Given the description of an element on the screen output the (x, y) to click on. 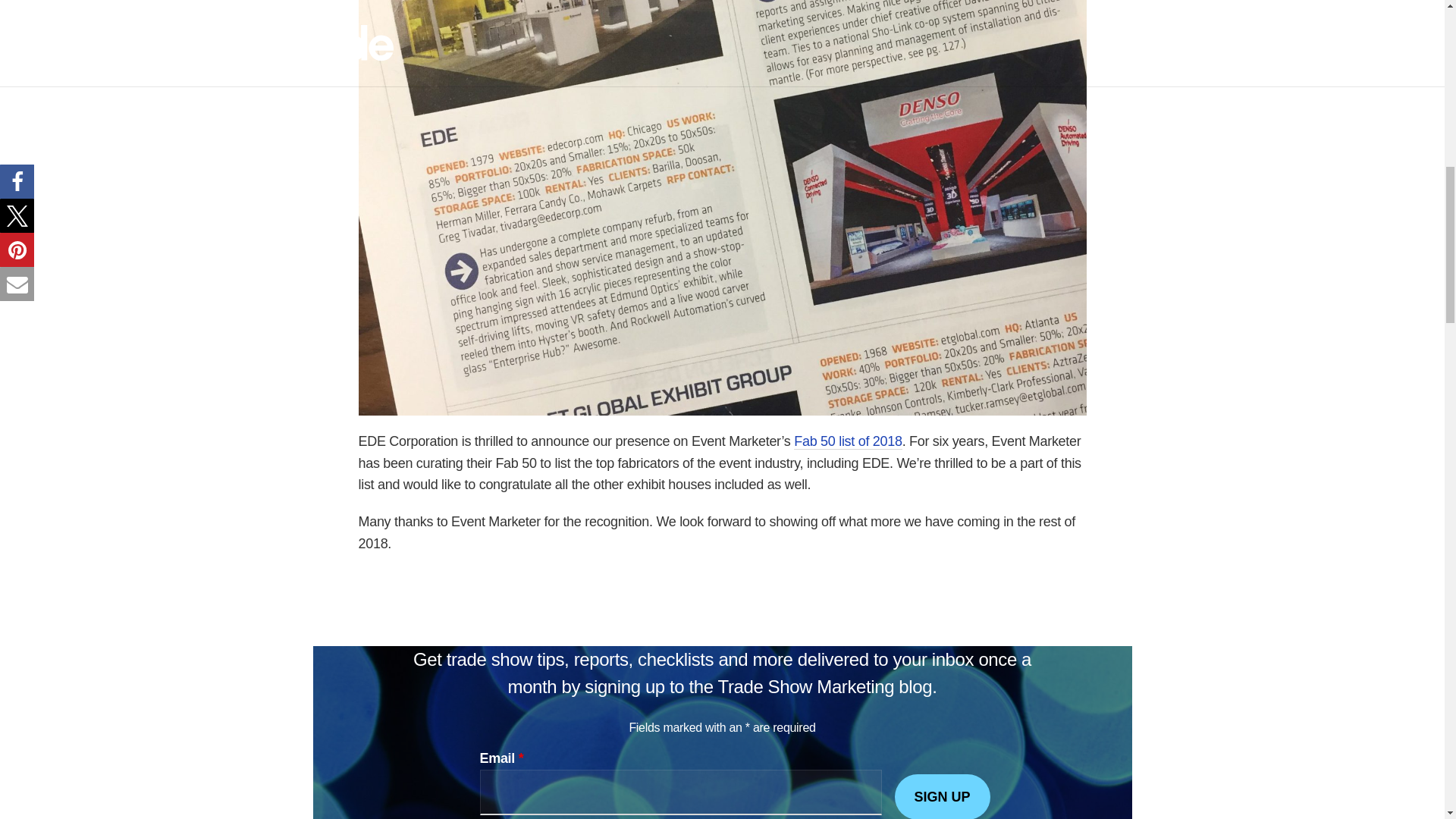
Sign Up (942, 796)
Sign Up (942, 796)
Fab 50 list of 2018 (847, 441)
